Given the description of an element on the screen output the (x, y) to click on. 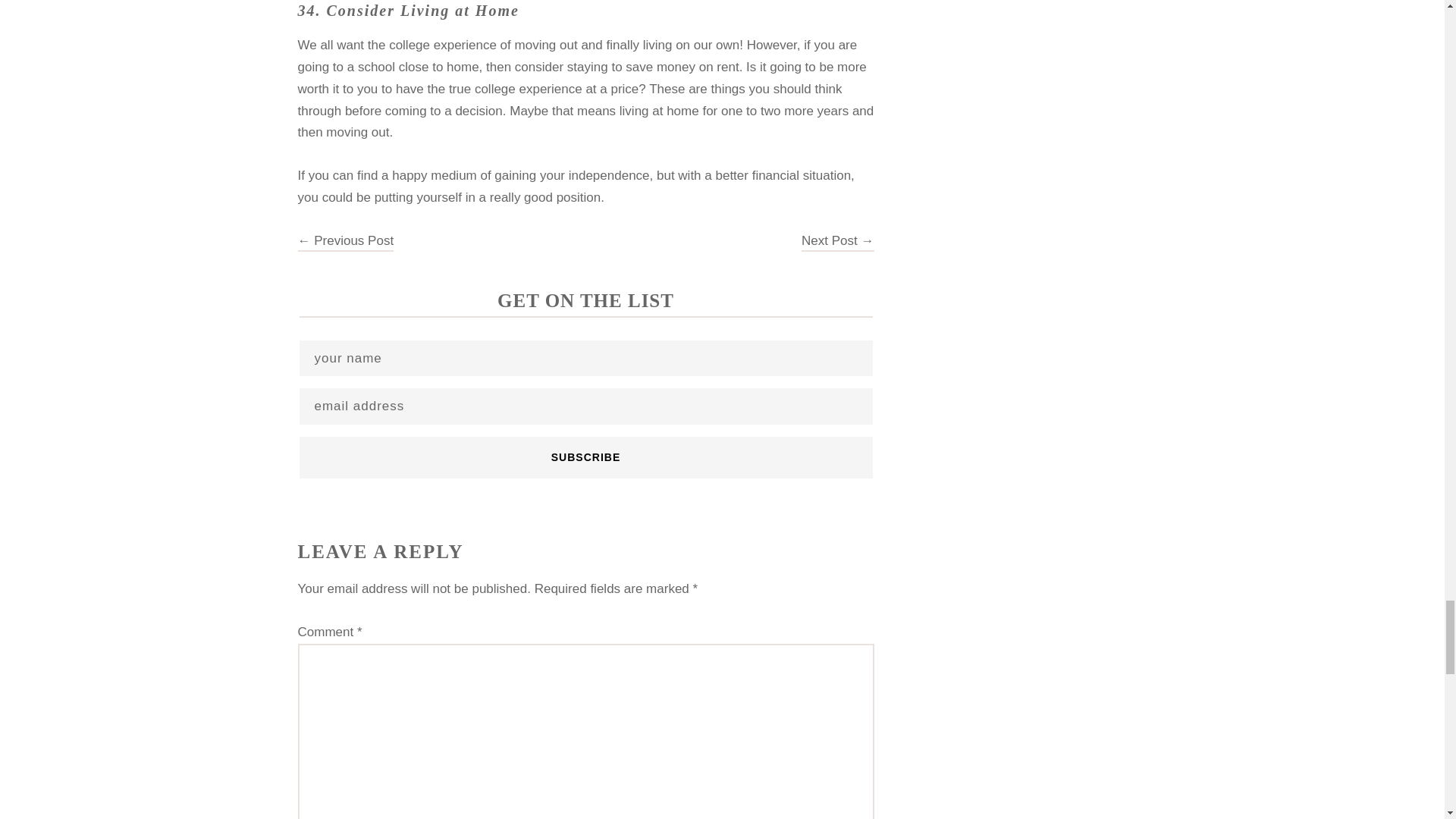
Subscribe (585, 457)
Subscribe (585, 457)
